Given the description of an element on the screen output the (x, y) to click on. 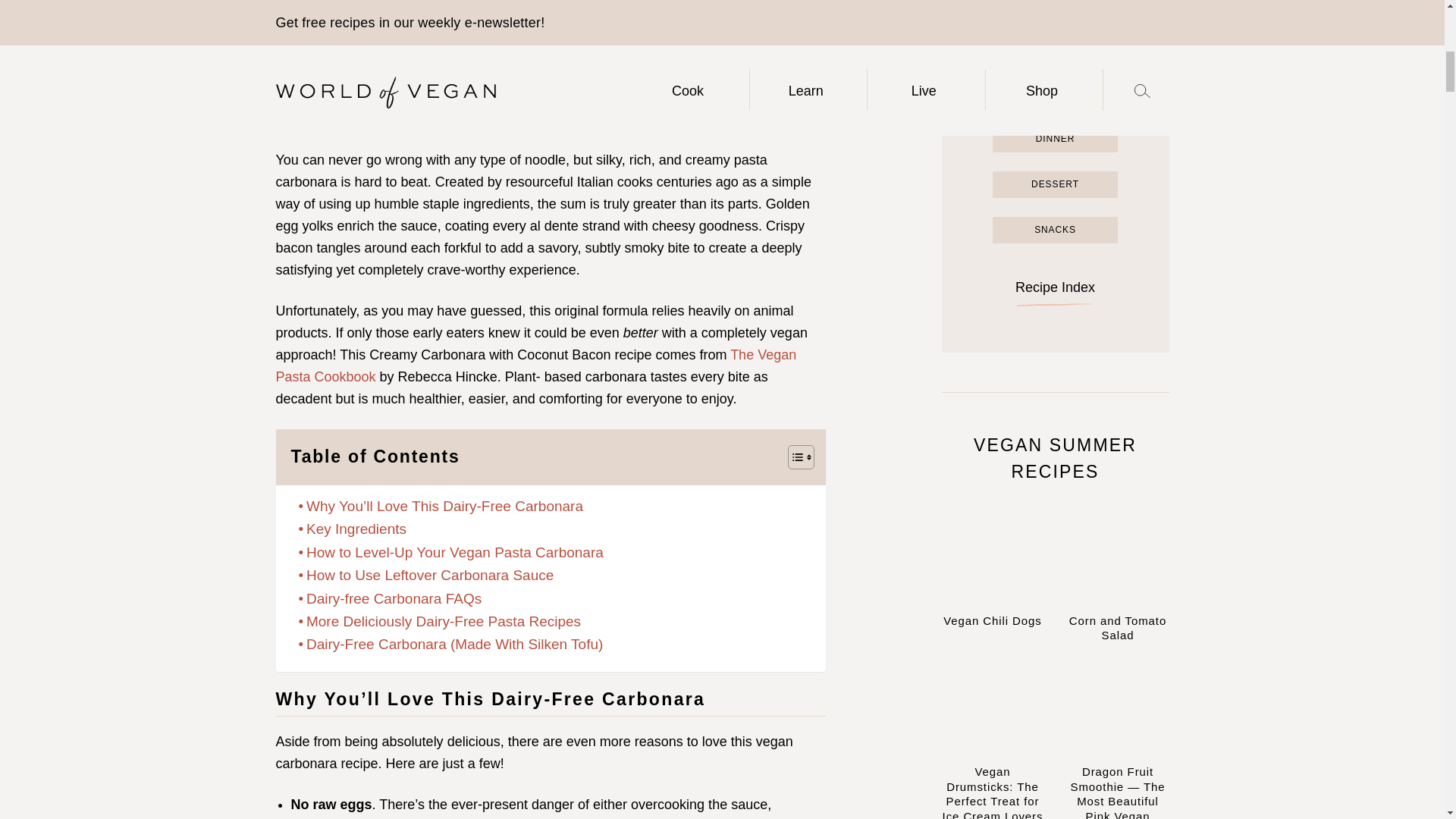
Key Ingredients (352, 528)
How to Level-Up Your Vegan Pasta Carbonara (451, 552)
More Deliciously Dairy-Free Pasta Recipes (439, 621)
How to Use Leftover Carbonara Sauce (426, 575)
Dairy-free Carbonara FAQs (389, 599)
